Given the description of an element on the screen output the (x, y) to click on. 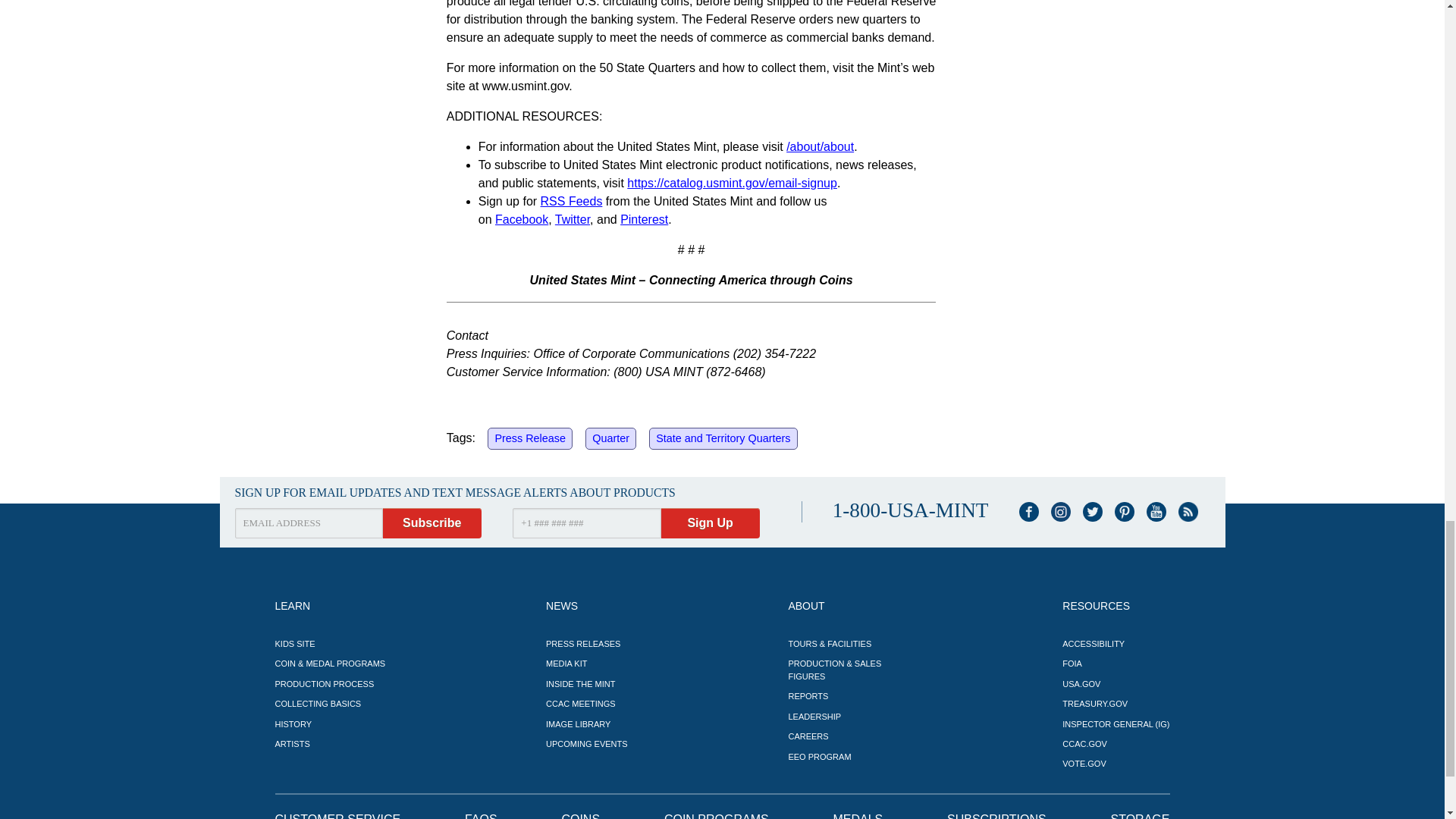
Sign Up (710, 522)
Subscribe (431, 522)
